Given the description of an element on the screen output the (x, y) to click on. 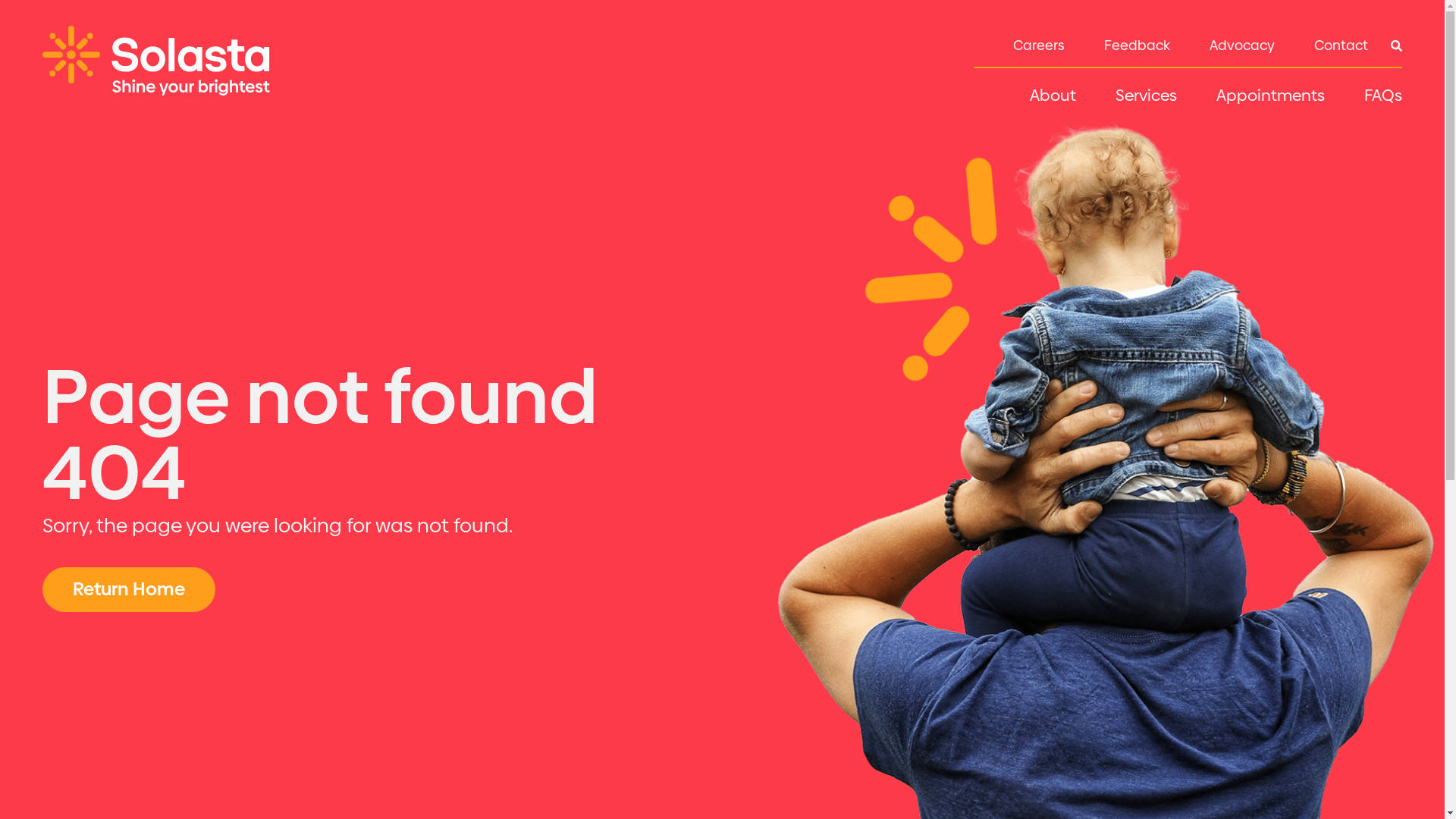
Appointments Element type: text (1270, 97)
Careers Element type: text (1038, 47)
Return Home Element type: text (128, 589)
Advocacy Element type: text (1241, 47)
Contact Element type: text (1341, 47)
About Element type: text (1052, 97)
FAQs Element type: text (1383, 97)
Services Element type: text (1145, 97)
Feedback Element type: text (1137, 47)
